Given the description of an element on the screen output the (x, y) to click on. 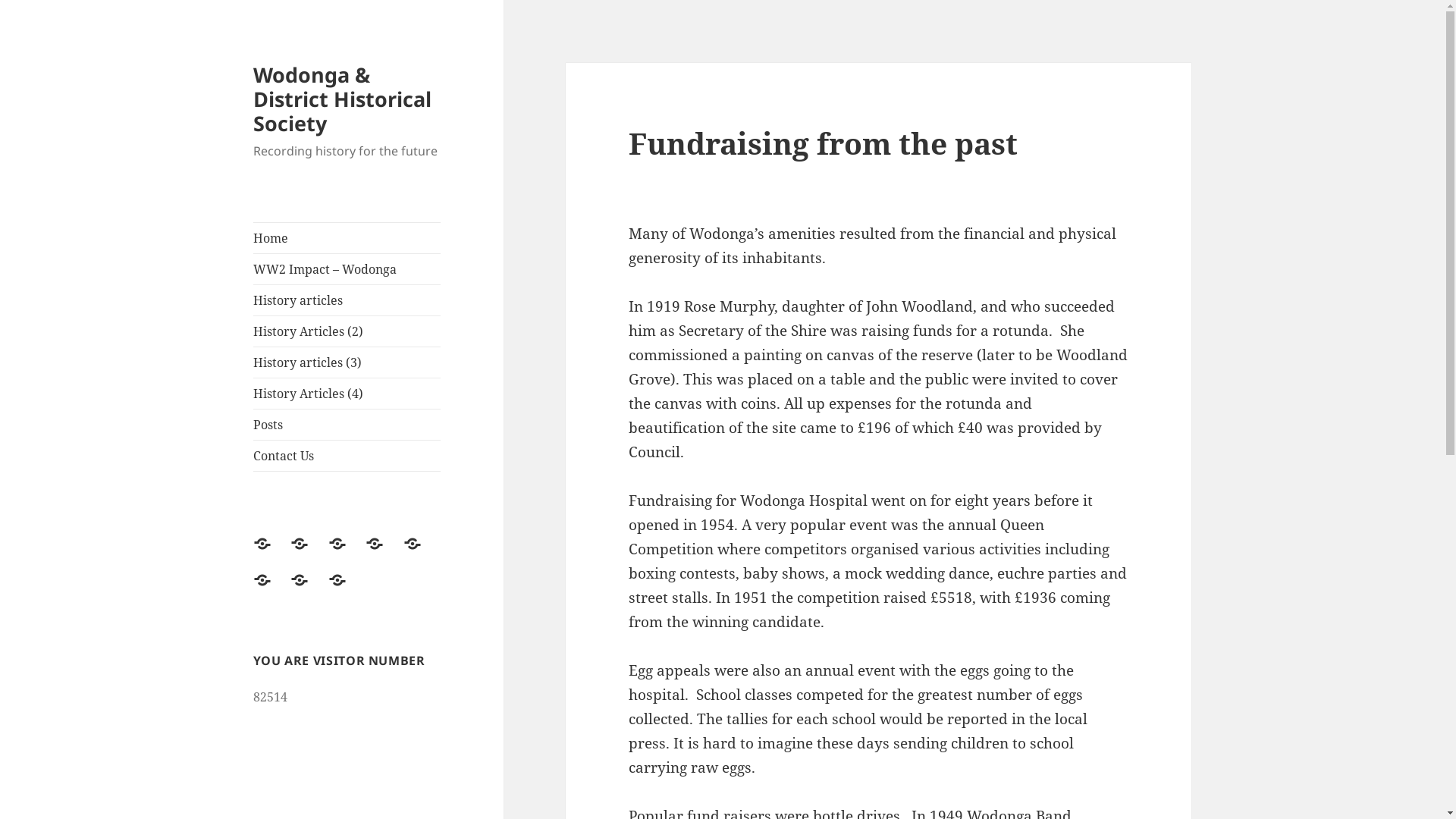
Home Element type: text (347, 237)
History Articles (2) Element type: text (347, 331)
History articles Element type: text (346, 552)
History articles (3) Element type: text (347, 362)
History articles Element type: text (347, 300)
Contact Us Element type: text (347, 455)
Posts Element type: text (347, 424)
Wodonga & District Historical Society Element type: text (342, 98)
History Articles (4) Element type: text (271, 589)
Contact Us Element type: text (346, 589)
History articles (3) Element type: text (421, 552)
Posts Element type: text (308, 589)
History Articles (4) Element type: text (347, 393)
Home Element type: text (271, 552)
History Articles (2) Element type: text (383, 552)
